Given the description of an element on the screen output the (x, y) to click on. 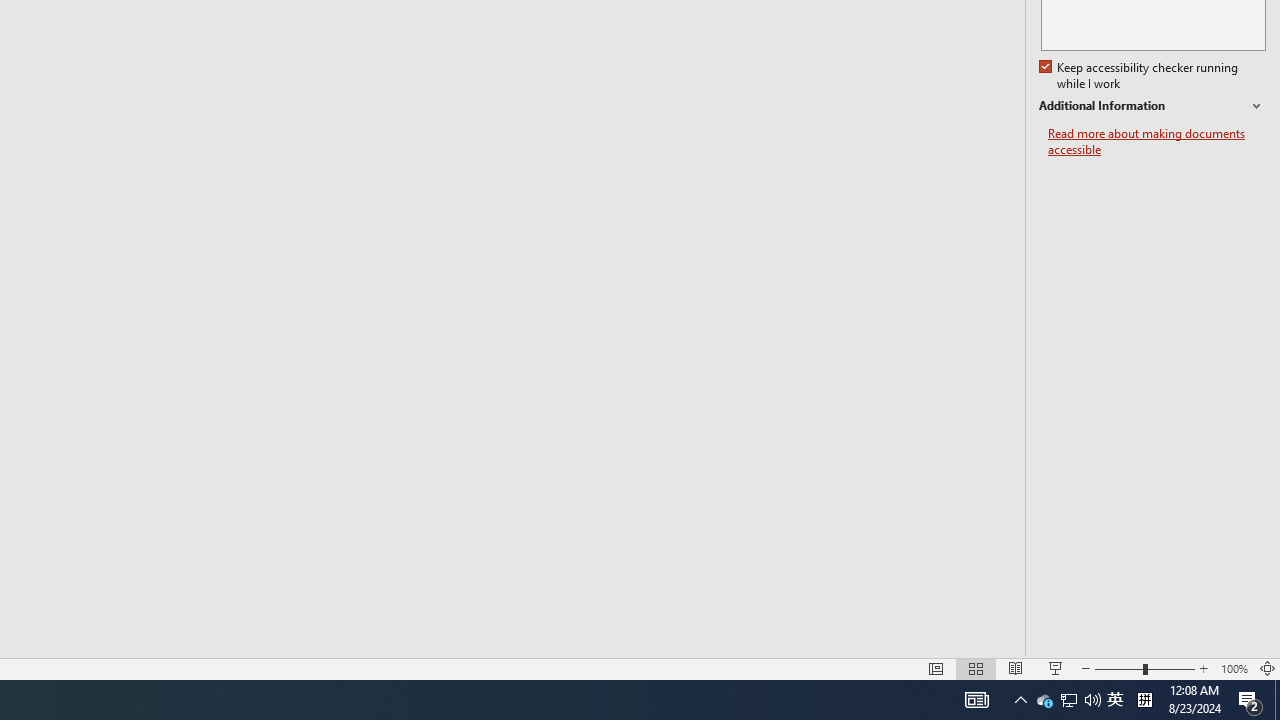
Additional Information (1152, 106)
Zoom 100% (1234, 668)
Keep accessibility checker running while I work (1140, 76)
Read more about making documents accessible (1156, 142)
